Given the description of an element on the screen output the (x, y) to click on. 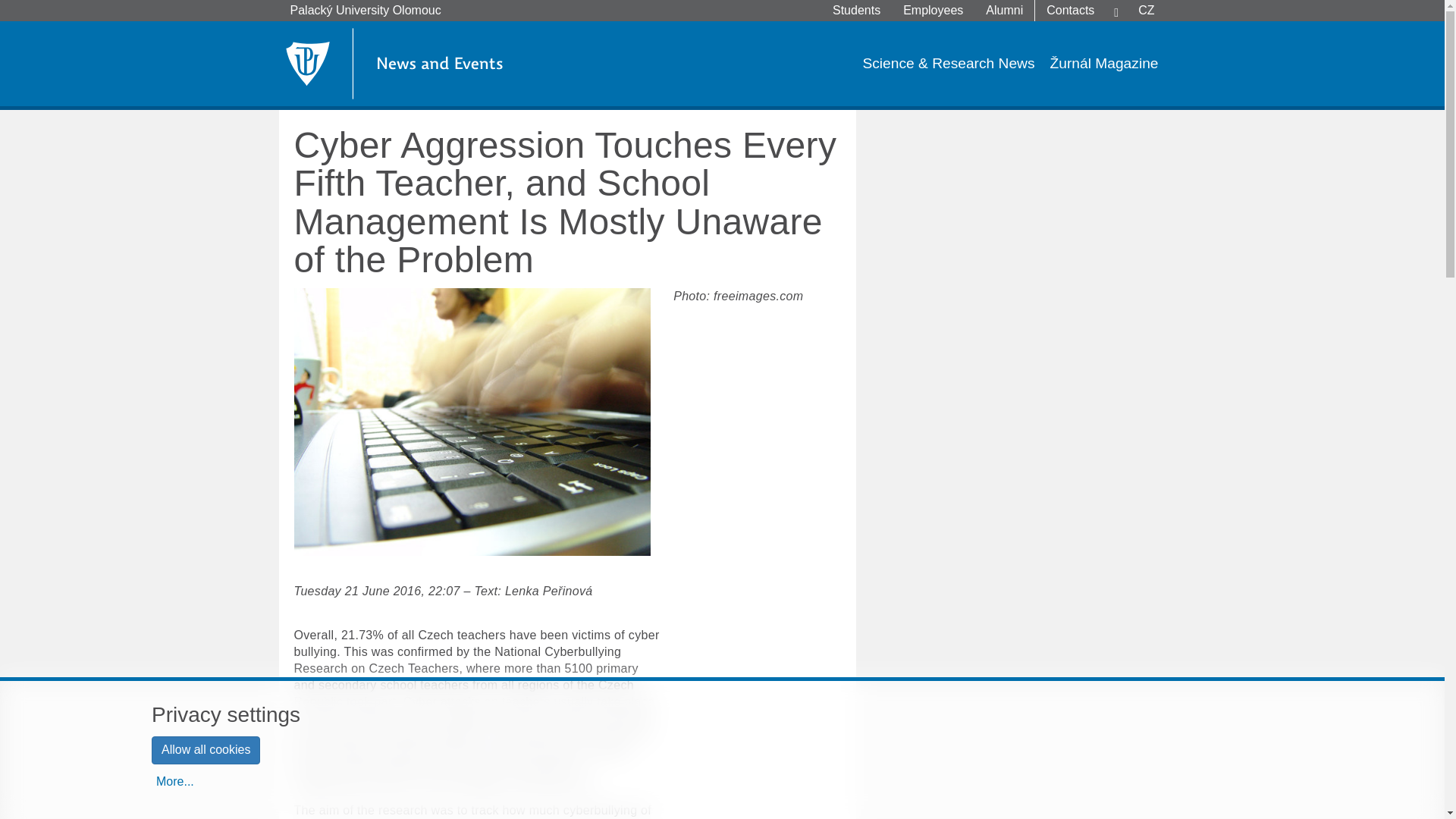
Allow all cookies (205, 750)
Students (856, 10)
Contacts (1070, 10)
Employees (932, 10)
CZ (1146, 10)
More... (174, 782)
Alumni (1003, 10)
Allow all cookies (205, 750)
